Given the description of an element on the screen output the (x, y) to click on. 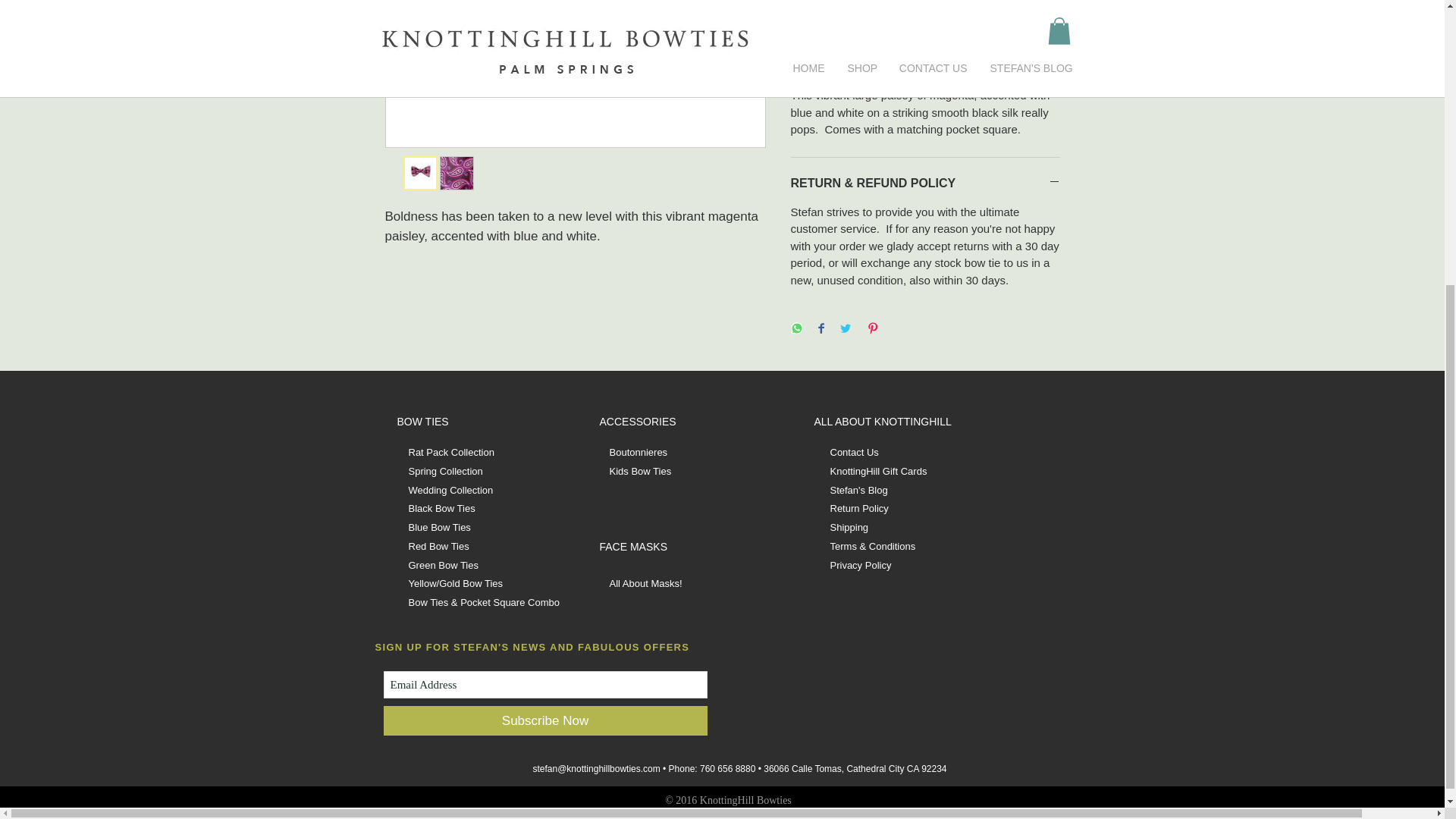
Rat Pack Collection (450, 451)
PRODUCT INFO (924, 66)
Add to Cart (924, 11)
Spring Collection (444, 471)
Green Bow Ties (443, 564)
Boutonnieres (639, 451)
Blue Bow Ties (438, 527)
Kids Bow Ties (640, 471)
Red Bow Ties (437, 546)
Black Bow Ties (440, 508)
Wedding Collection (450, 490)
